Given the description of an element on the screen output the (x, y) to click on. 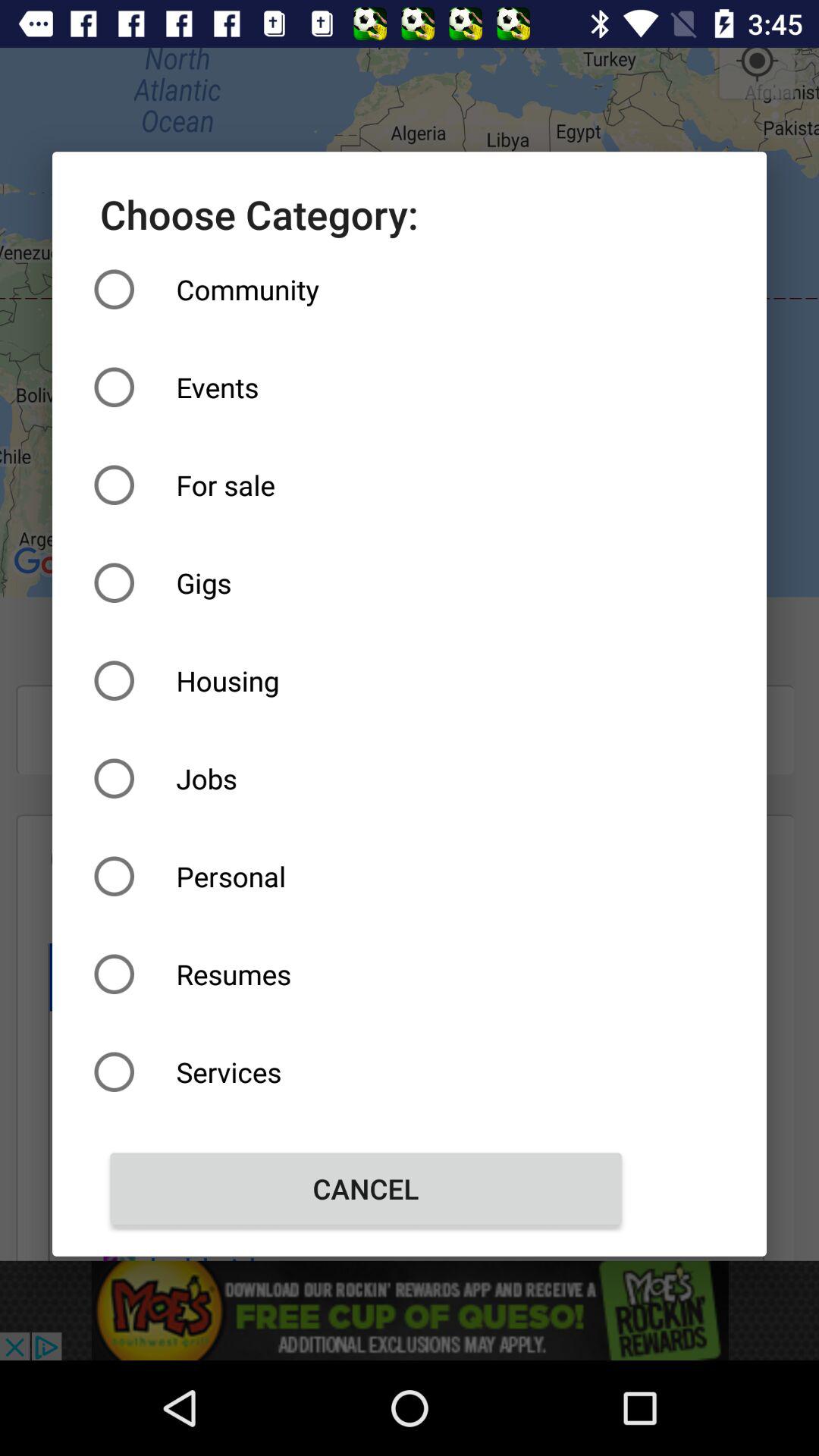
swipe until the gigs icon (365, 582)
